Given the description of an element on the screen output the (x, y) to click on. 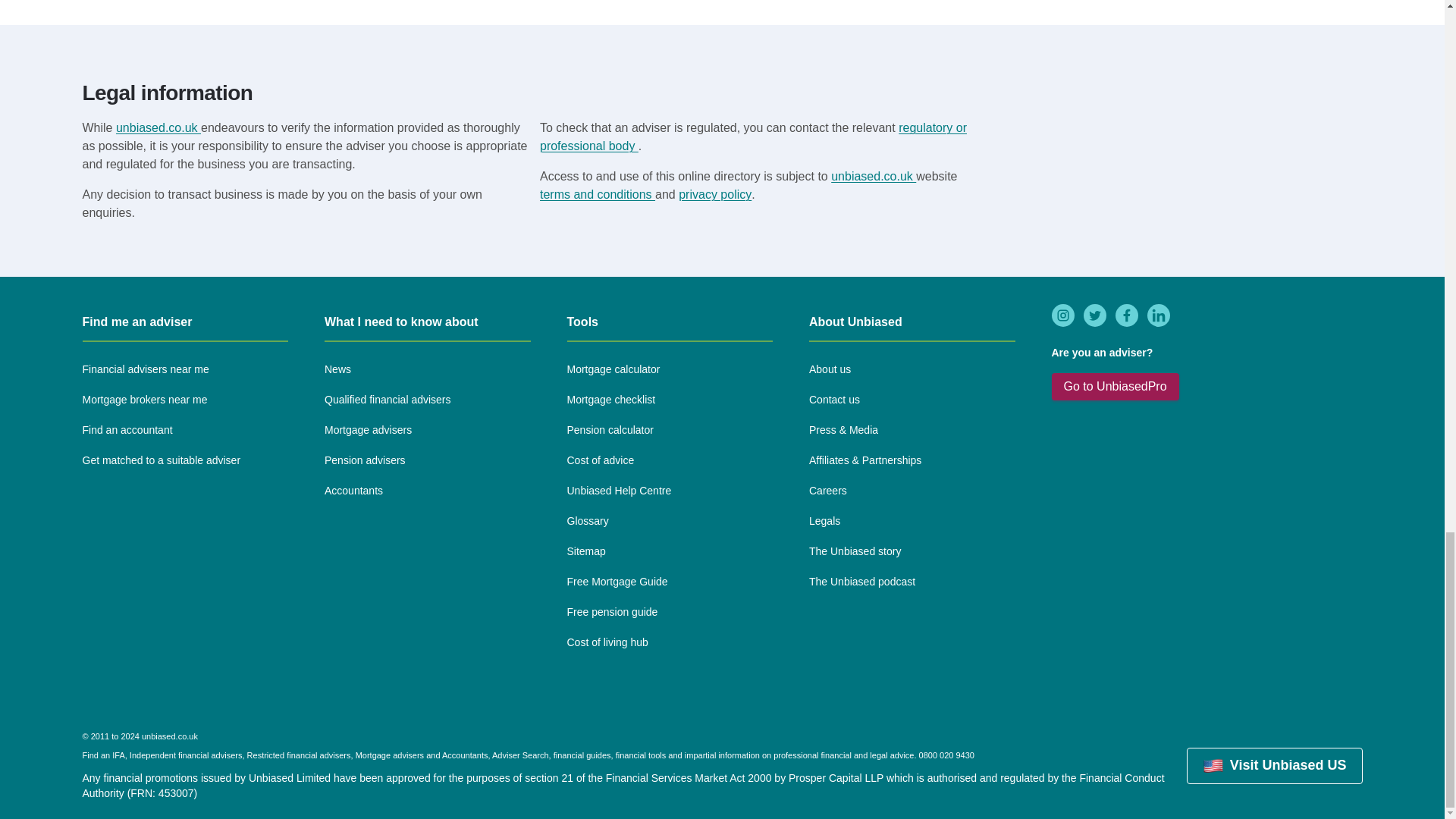
Mortgage calculator (614, 369)
News (337, 369)
Mortgage advisers (368, 430)
Mortgage checklist (611, 400)
Free Mortgage Guide (617, 581)
Glossary (587, 521)
Pension calculator (610, 430)
unbiased.co.uk (873, 175)
Pension advisers (365, 460)
Sitemap (586, 551)
